Given the description of an element on the screen output the (x, y) to click on. 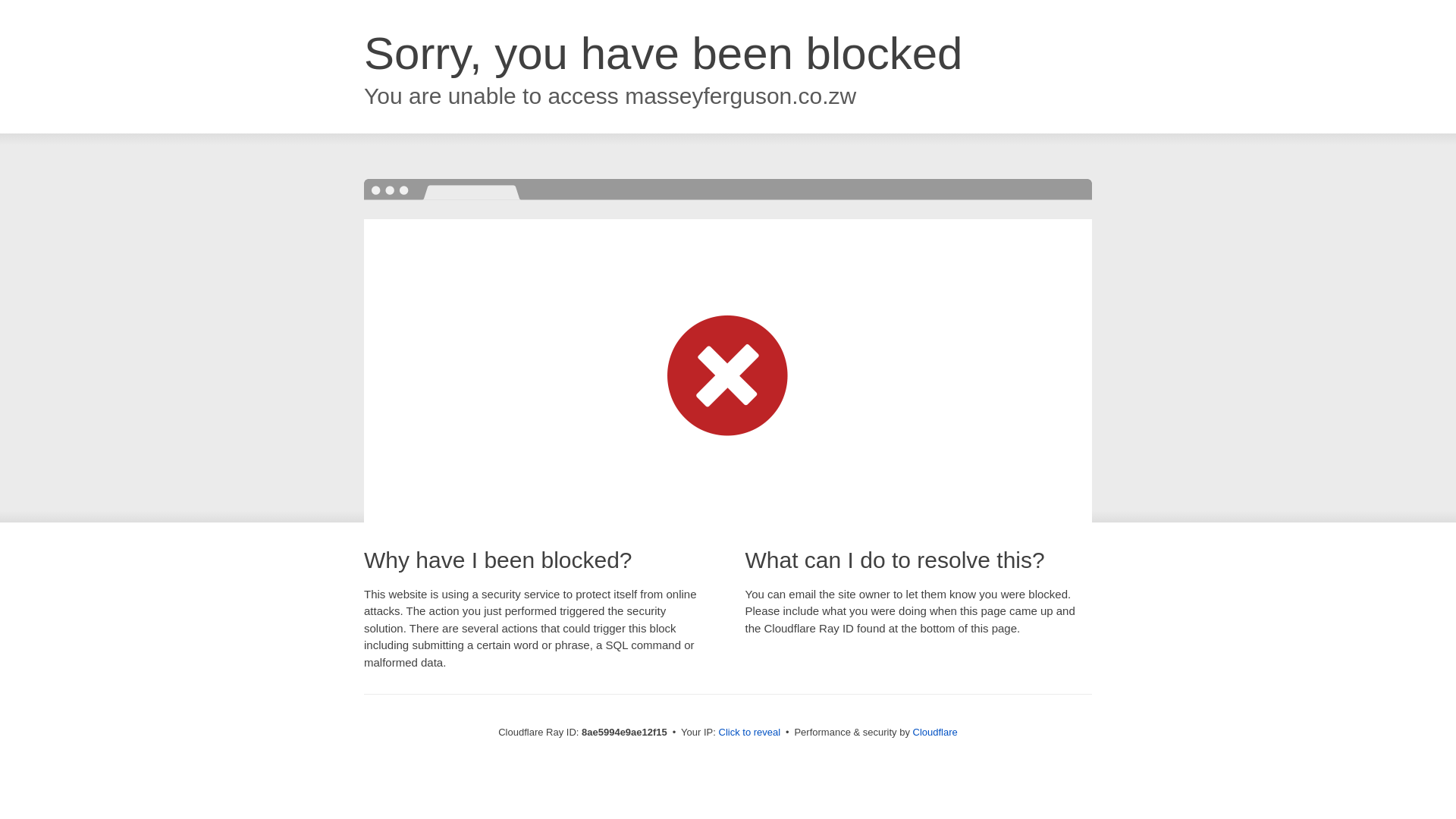
Cloudflare (935, 731)
Click to reveal (749, 732)
